Given the description of an element on the screen output the (x, y) to click on. 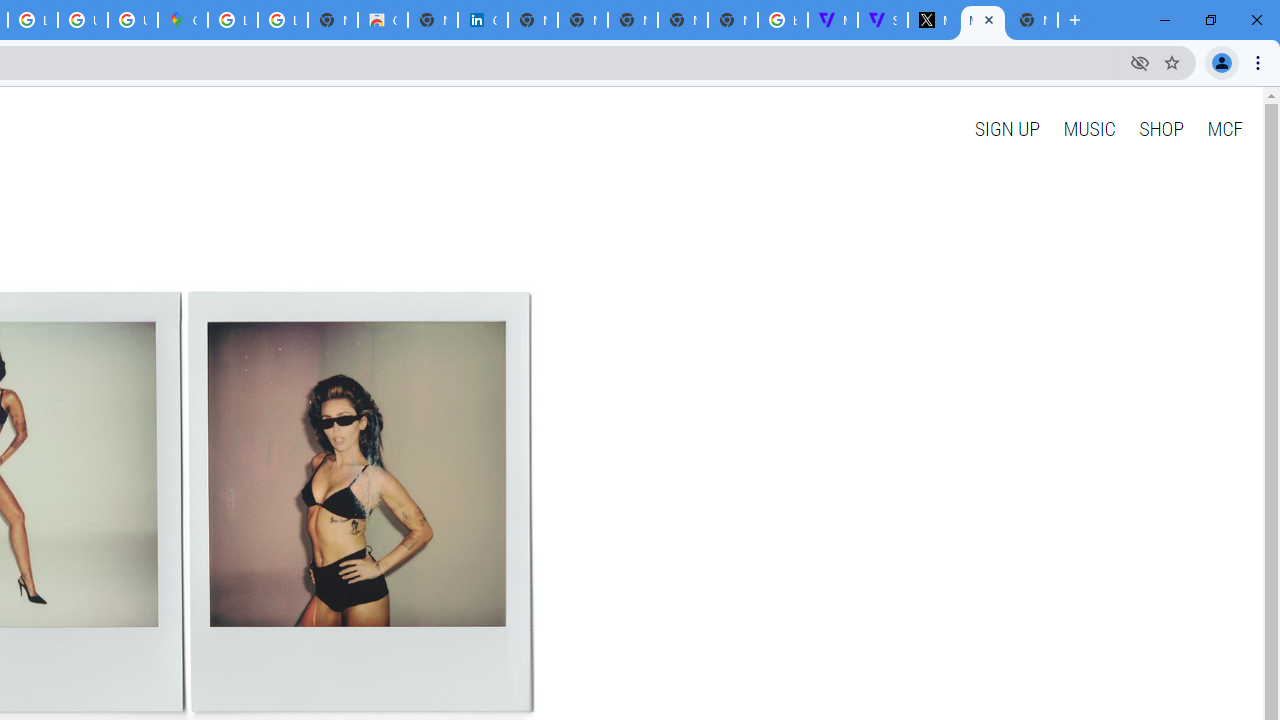
Miley Cyrus (@MileyCyrus) / X (932, 20)
SIGN UP (1006, 128)
New Tab (732, 20)
Chrome Web Store (383, 20)
MILEY CYRUS. (982, 20)
MCF (1224, 128)
